Given the description of an element on the screen output the (x, y) to click on. 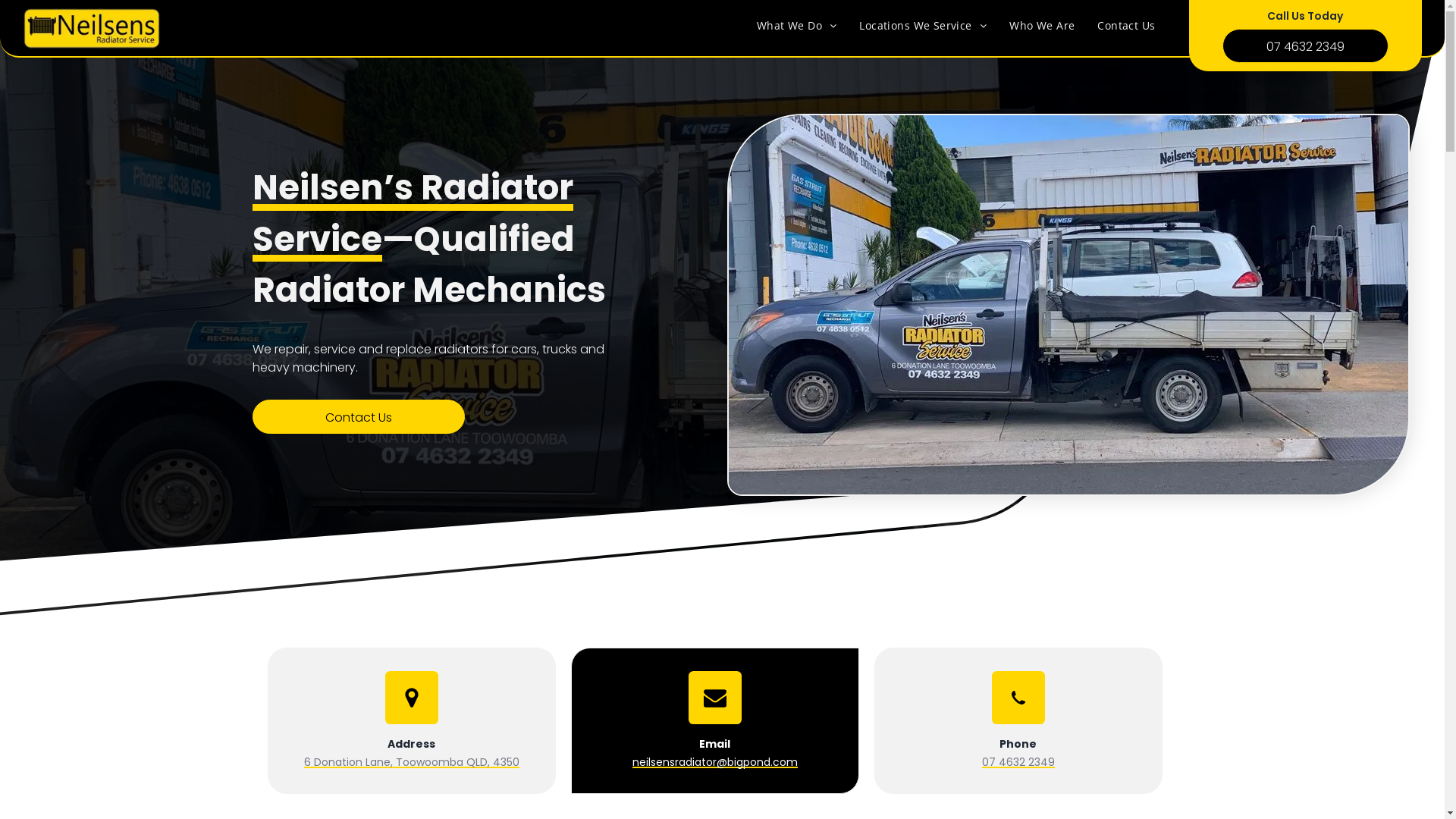
07 4632 2349 Element type: text (1305, 45)
Contact Us Element type: text (1125, 25)
Locations We Service Element type: text (922, 25)
neilsensradiator@bigpond.com Element type: text (714, 761)
What We Do Element type: text (796, 25)
Who We Are Element type: text (1041, 25)
Email Icon Element type: hover (714, 697)
Phone Icon Element type: hover (1017, 697)
Location Icon Element type: hover (411, 697)
6 Donation Lane, Toowoomba QLD, 4350 Element type: text (410, 761)
07 4632 2349 Element type: text (1017, 761)
Contact Us Element type: text (357, 416)
